Given the description of an element on the screen output the (x, y) to click on. 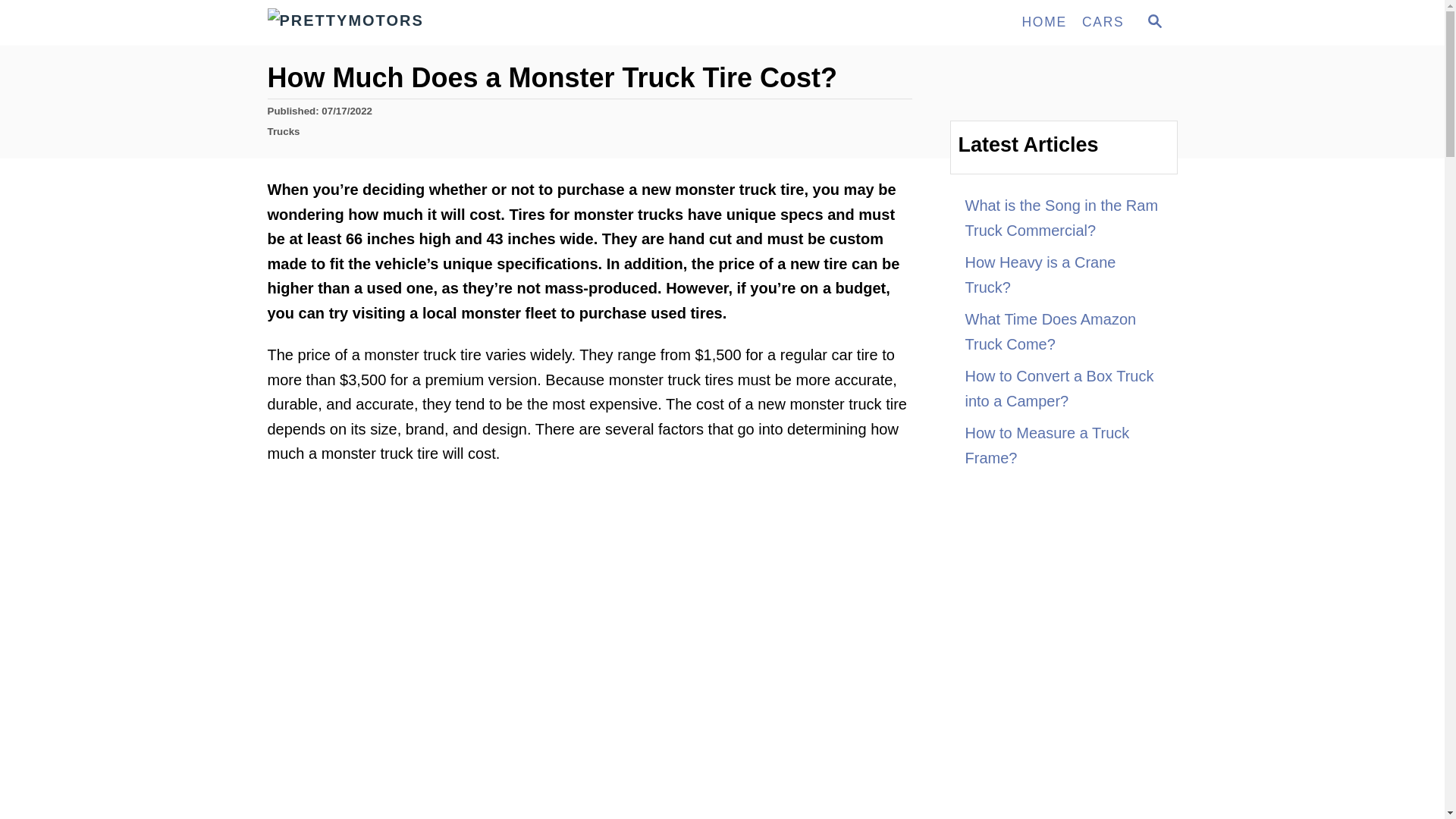
How Heavy is a Crane Truck? (1062, 274)
Prettymotors (403, 22)
What is the Song in the Ram Truck Commercial? (1062, 217)
HOME (1153, 22)
Trucks (1043, 22)
How to Convert a Box Truck into a Camper? (282, 131)
What Time Does Amazon Truck Come? (1062, 388)
MAGNIFYING GLASS (1062, 331)
How to Measure a Truck Frame? (1153, 21)
